Given the description of an element on the screen output the (x, y) to click on. 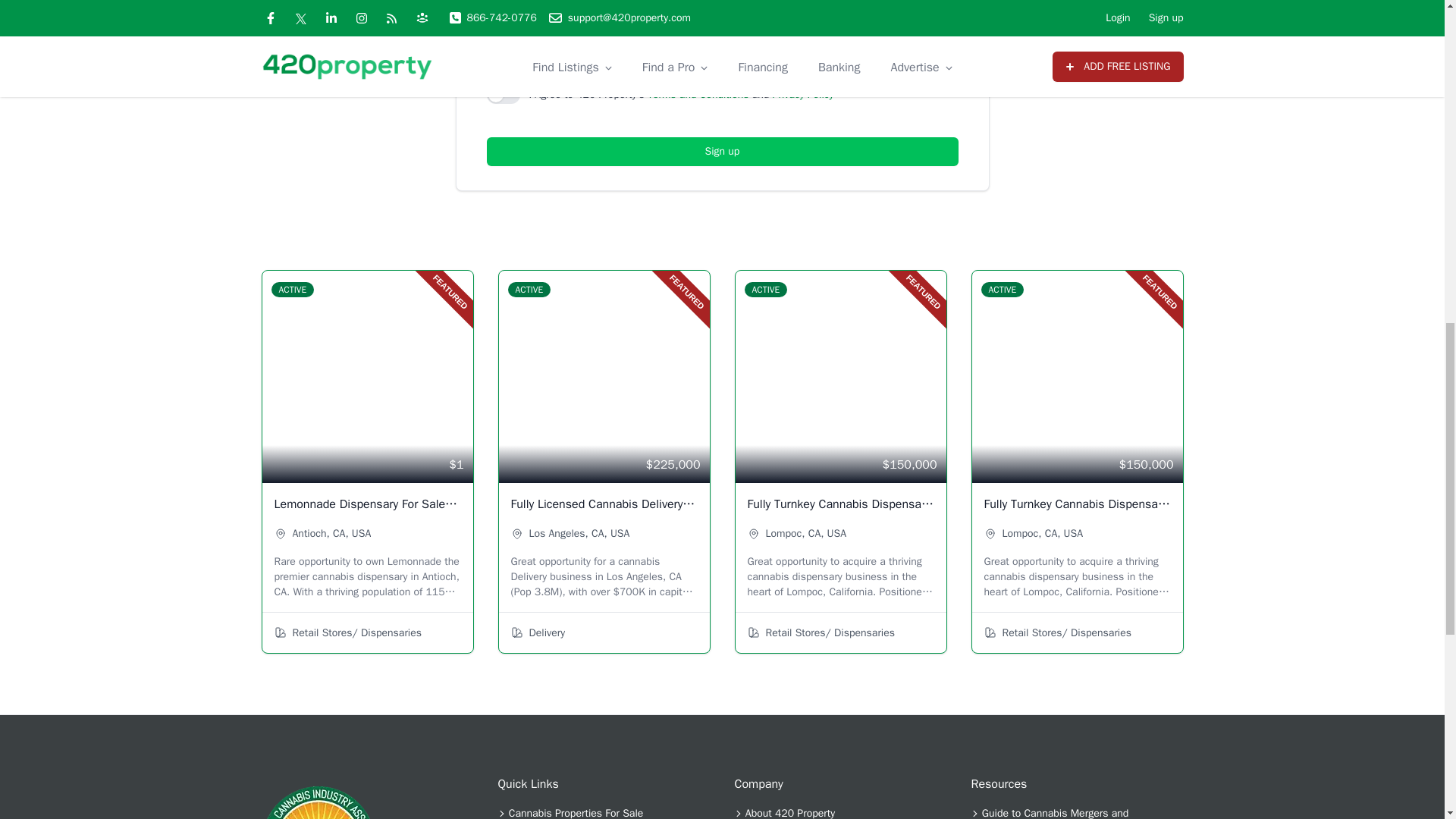
The Cannabis Industry (317, 802)
